Given the description of an element on the screen output the (x, y) to click on. 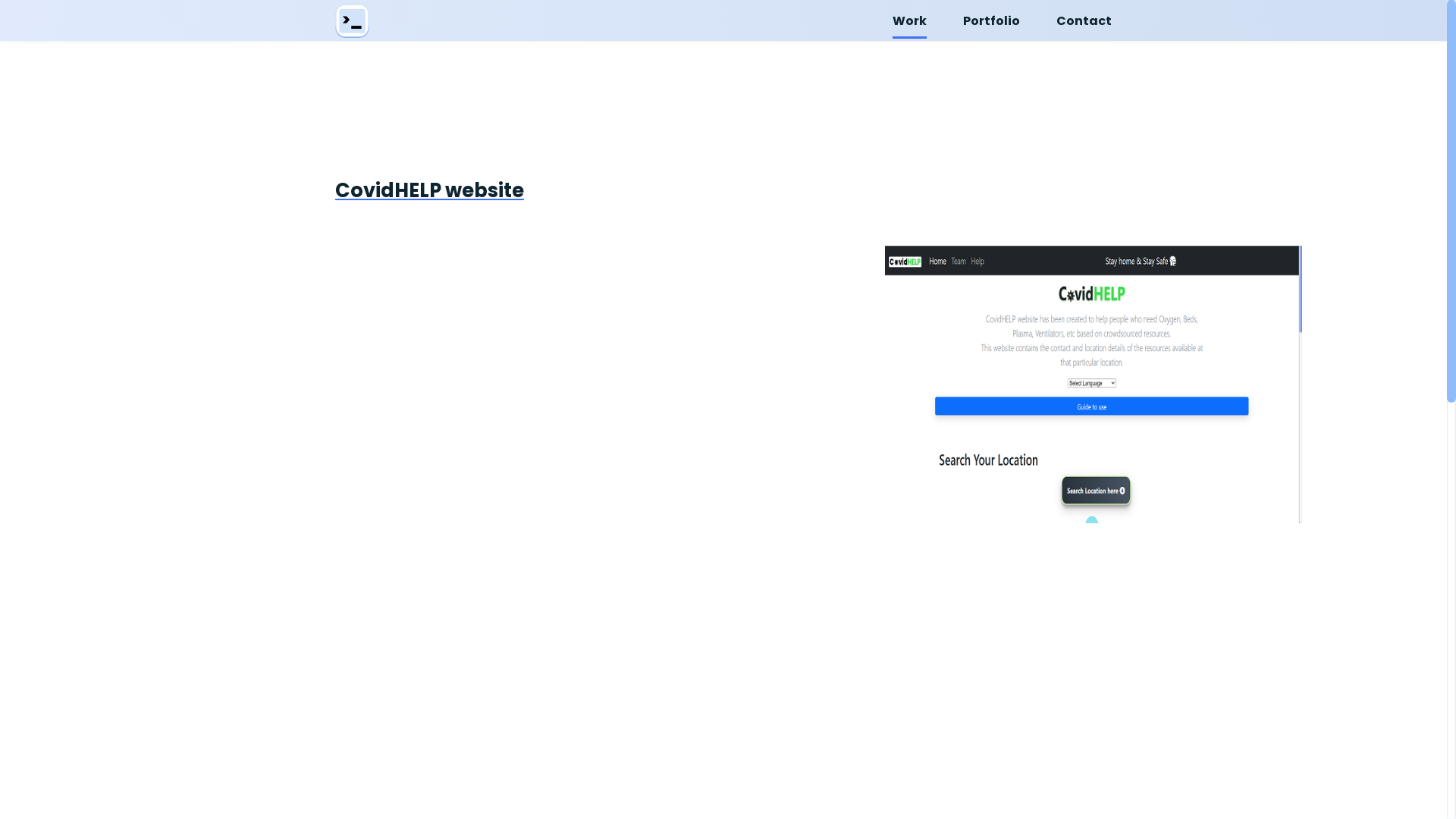
Work Element type: text (909, 20)
Portfolio Element type: text (991, 20)
Contact Element type: text (1083, 20)
